Given the description of an element on the screen output the (x, y) to click on. 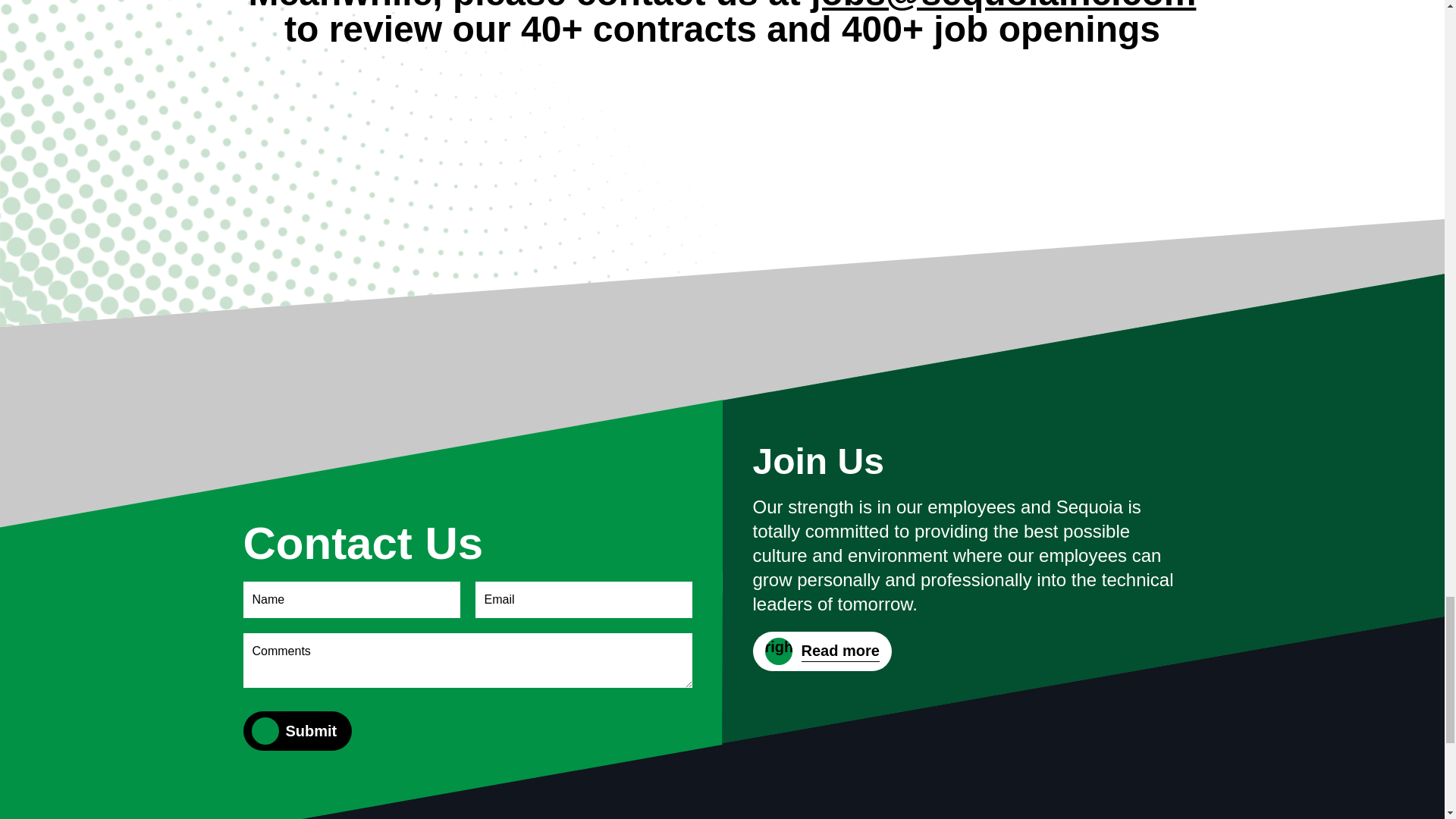
Submit (310, 731)
Read more (821, 650)
Submit (310, 731)
